Given the description of an element on the screen output the (x, y) to click on. 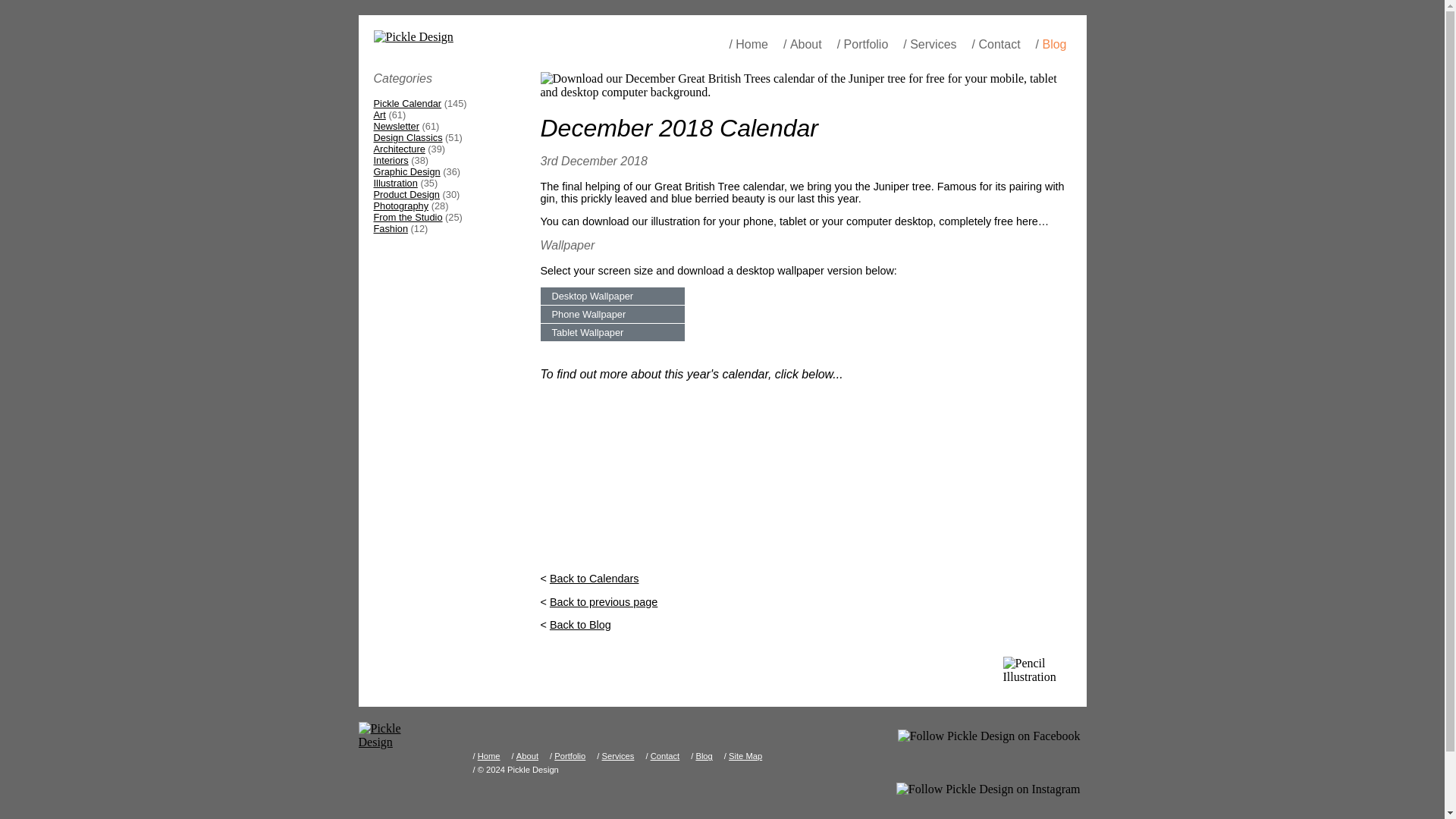
Tablet Wallpaper (612, 332)
Phone Wallpaper (612, 313)
Fashion (389, 228)
Pickle Calendar (406, 102)
Home (751, 46)
From the Studio (407, 216)
Photography (400, 205)
Architecture (398, 148)
About (806, 46)
Interiors (389, 160)
Illustration (394, 183)
Design Classics (407, 137)
Contact (999, 46)
Portfolio (866, 46)
Graphic Design (405, 171)
